Given the description of an element on the screen output the (x, y) to click on. 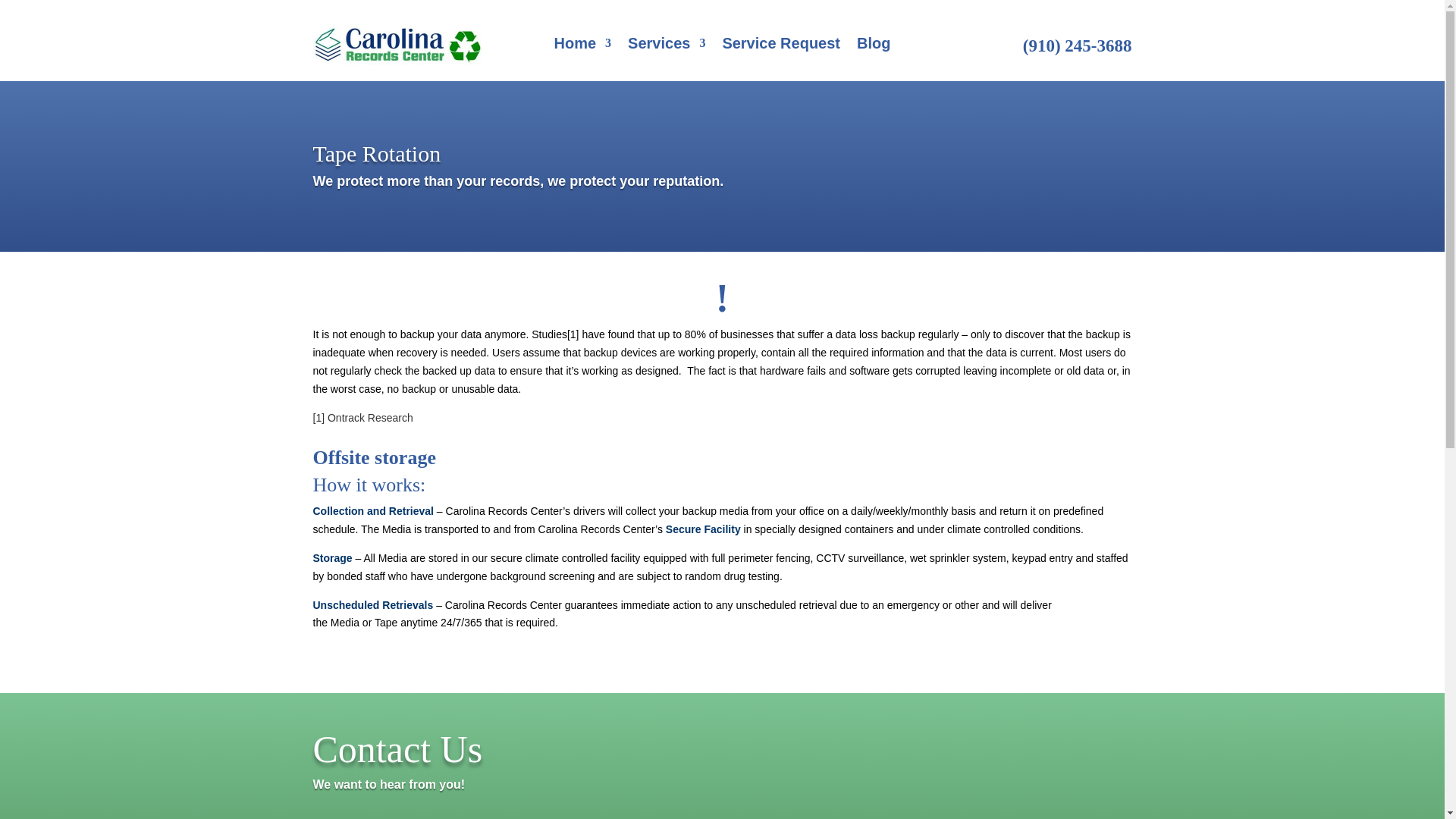
Home (582, 45)
CRC-Logo (398, 45)
Services (665, 45)
Blog (873, 45)
Service Request (781, 45)
